Given the description of an element on the screen output the (x, y) to click on. 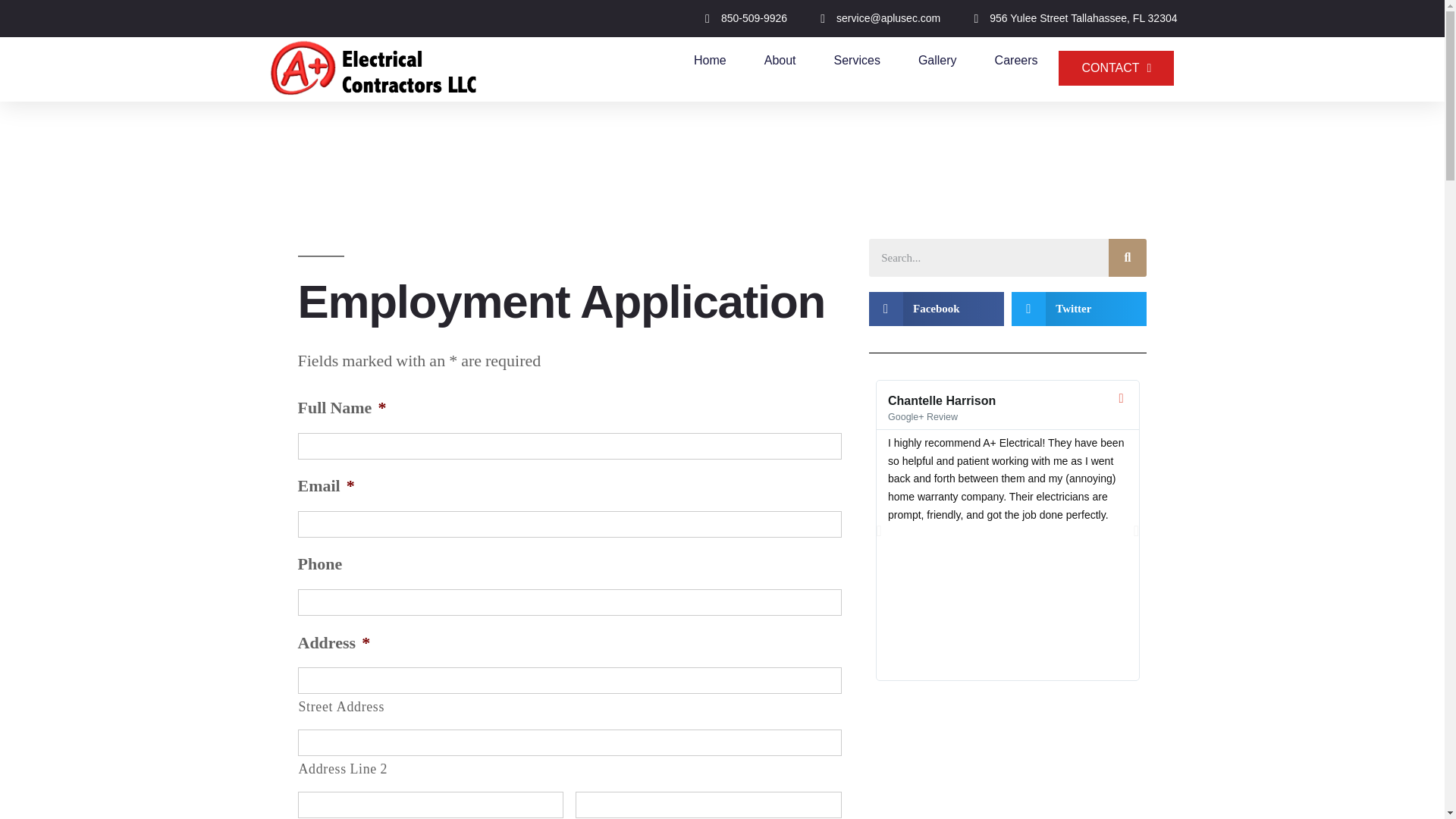
850-509-9926 (740, 18)
About (780, 60)
Home (710, 60)
Gallery (937, 60)
CONTACT (1115, 67)
Services (857, 60)
Careers (1016, 60)
956 Yulee Street Tallahassee, FL 32304 (1069, 18)
